Given the description of an element on the screen output the (x, y) to click on. 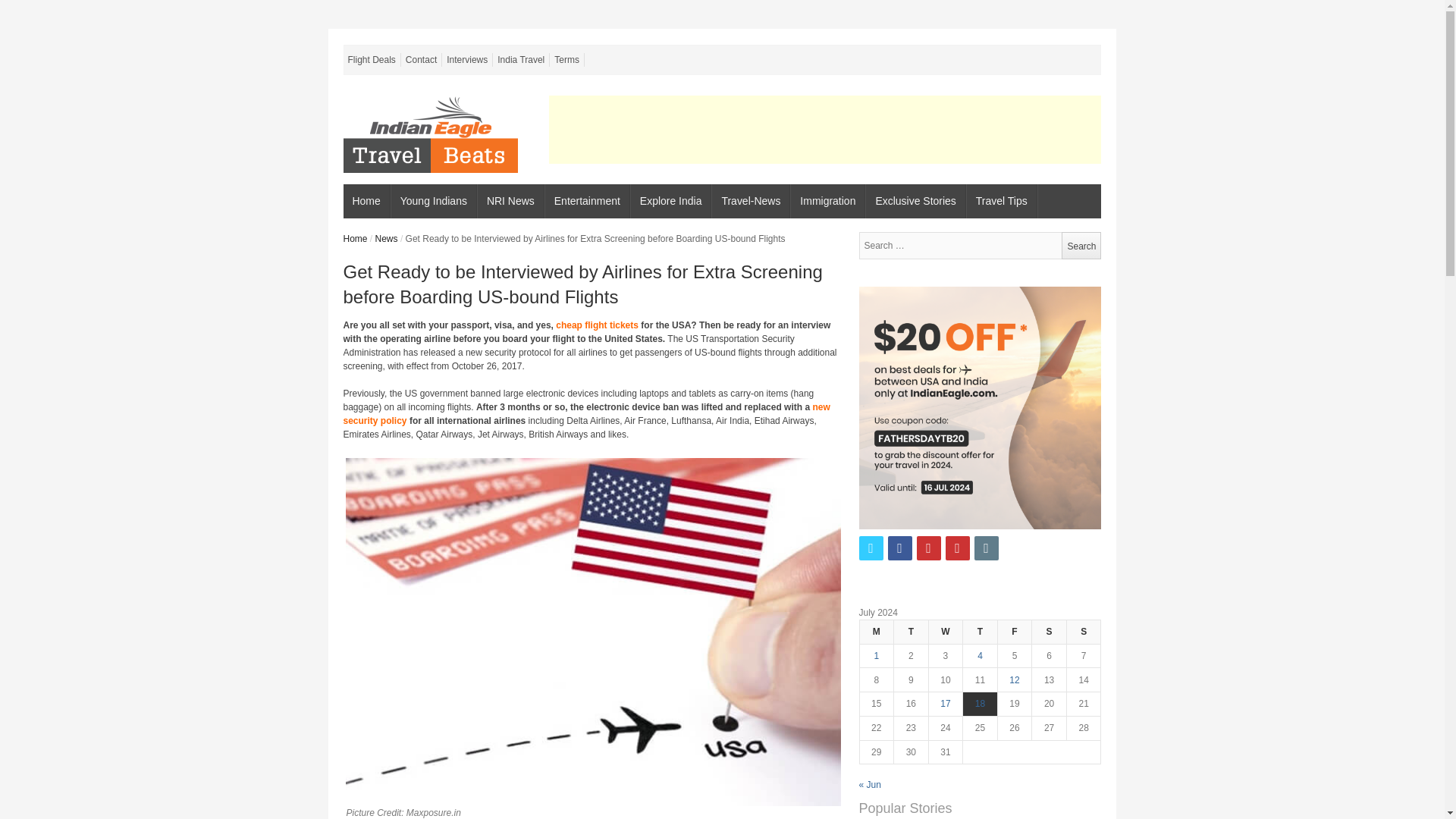
Youtube (956, 548)
Flight Deals (371, 59)
Contact (421, 59)
new security policy (585, 413)
Thursday (979, 631)
Friday (1014, 631)
Home (366, 201)
Interviews (467, 59)
Advertisement (824, 129)
Explore India (670, 201)
India Travel (521, 59)
twitter (870, 548)
Wednesday (945, 631)
